Given the description of an element on the screen output the (x, y) to click on. 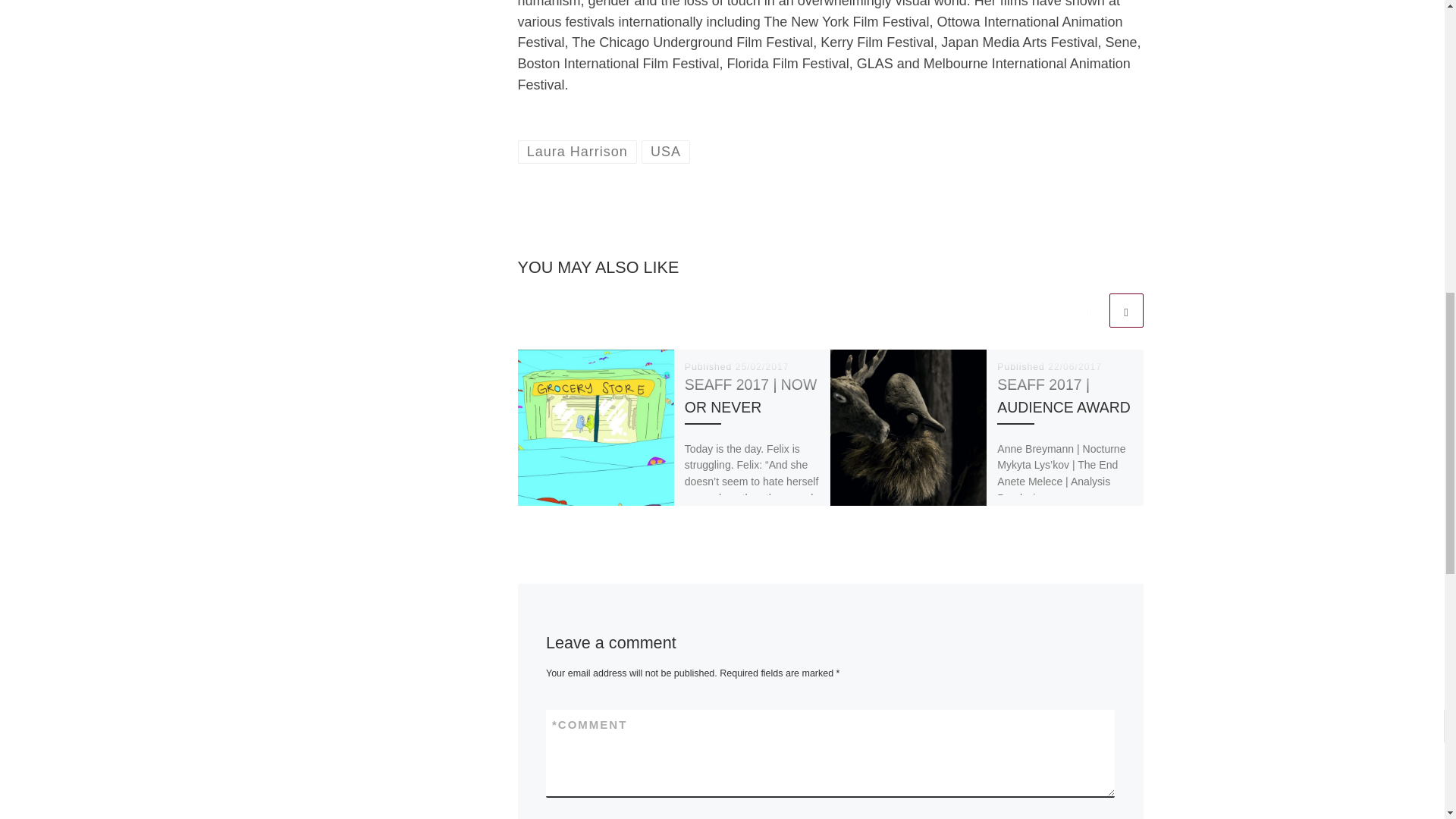
Previous related articles (1088, 310)
USA (666, 151)
Laura Harrison (576, 151)
Next related articles (1125, 310)
View all posts in USA (666, 151)
View all posts in Laura Harrison (576, 151)
